Given the description of an element on the screen output the (x, y) to click on. 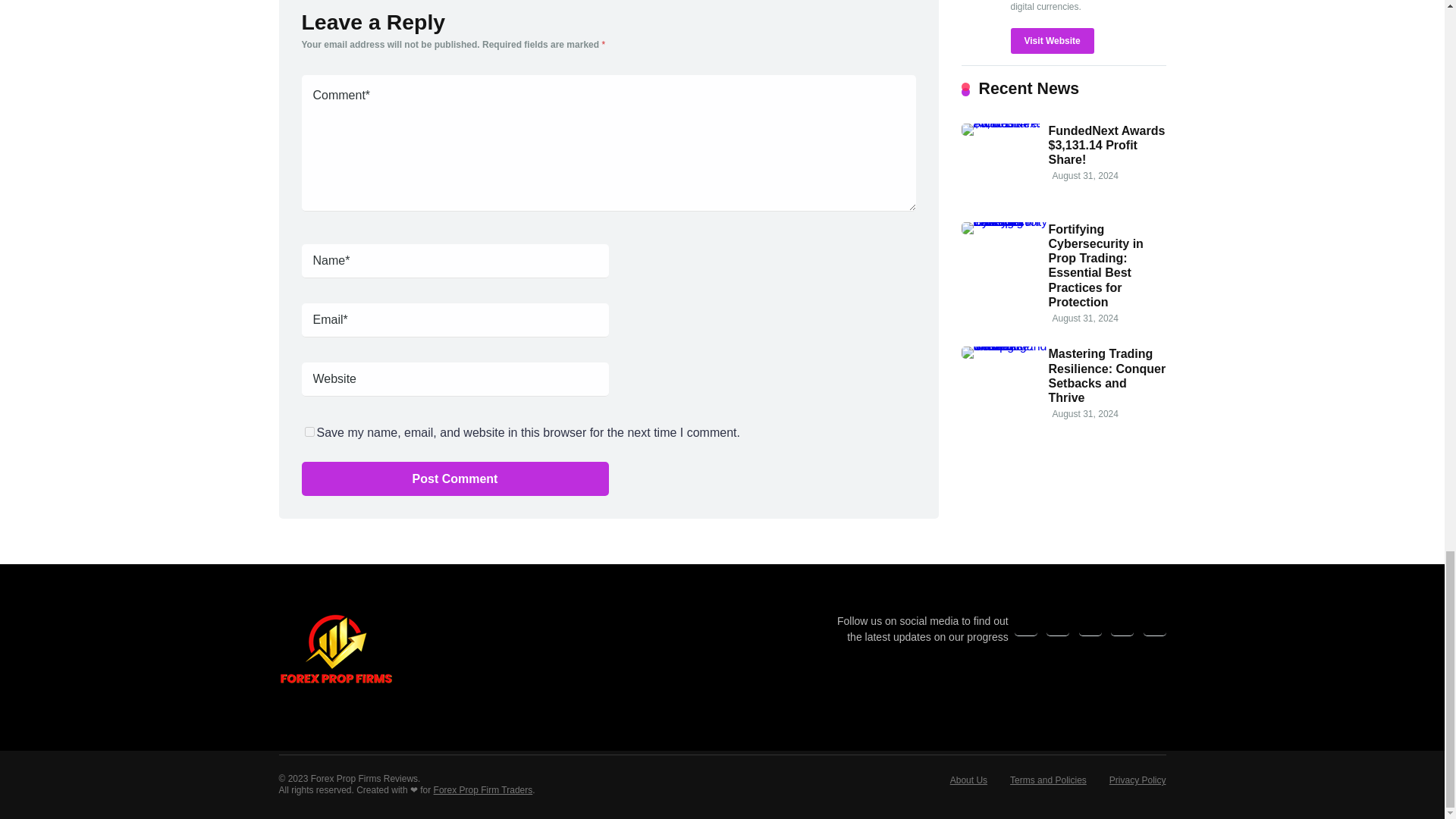
Post Comment (454, 478)
Post Comment (454, 478)
yes (309, 431)
